Given the description of an element on the screen output the (x, y) to click on. 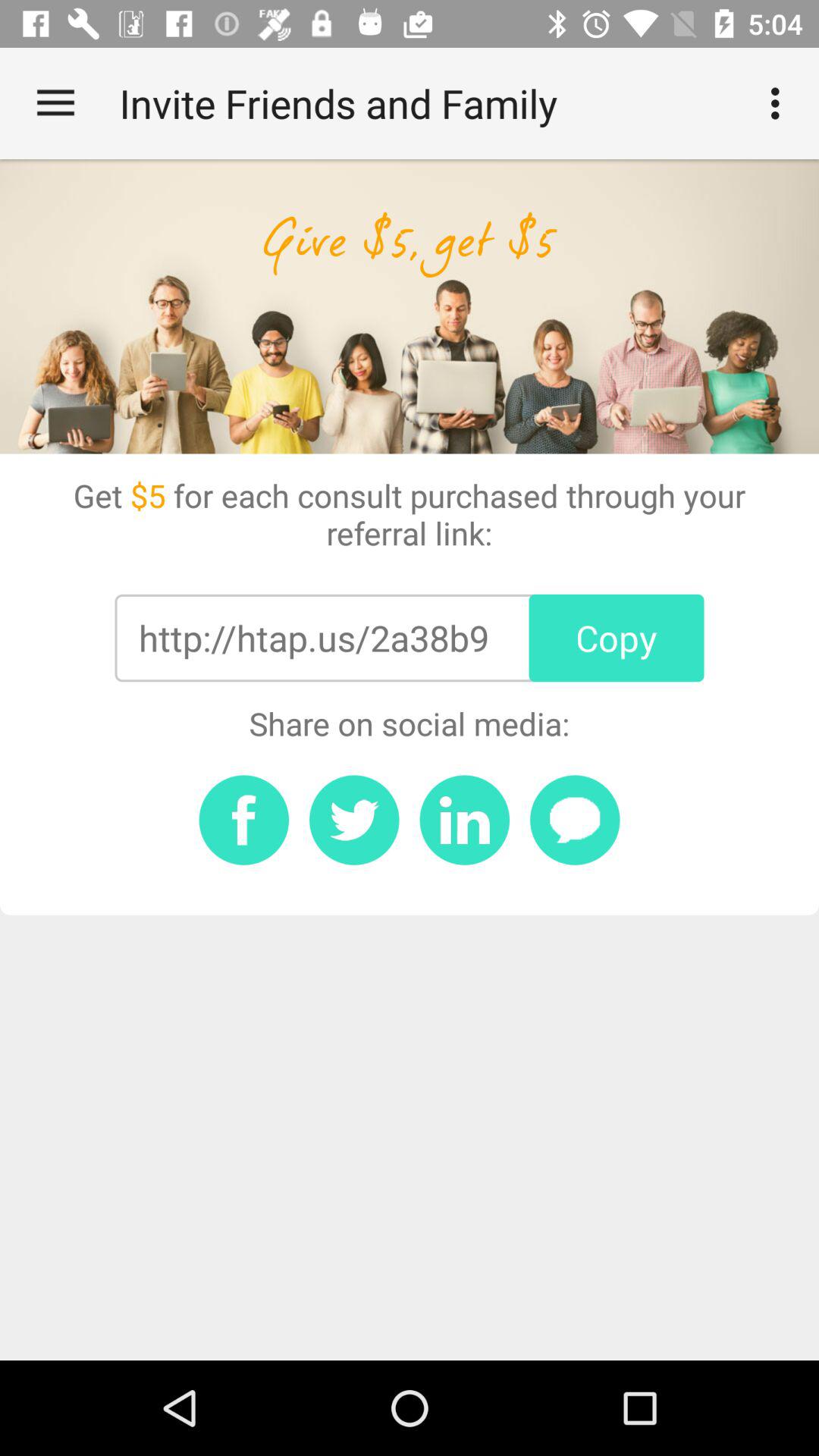
turn off the http htap us item (313, 637)
